Given the description of an element on the screen output the (x, y) to click on. 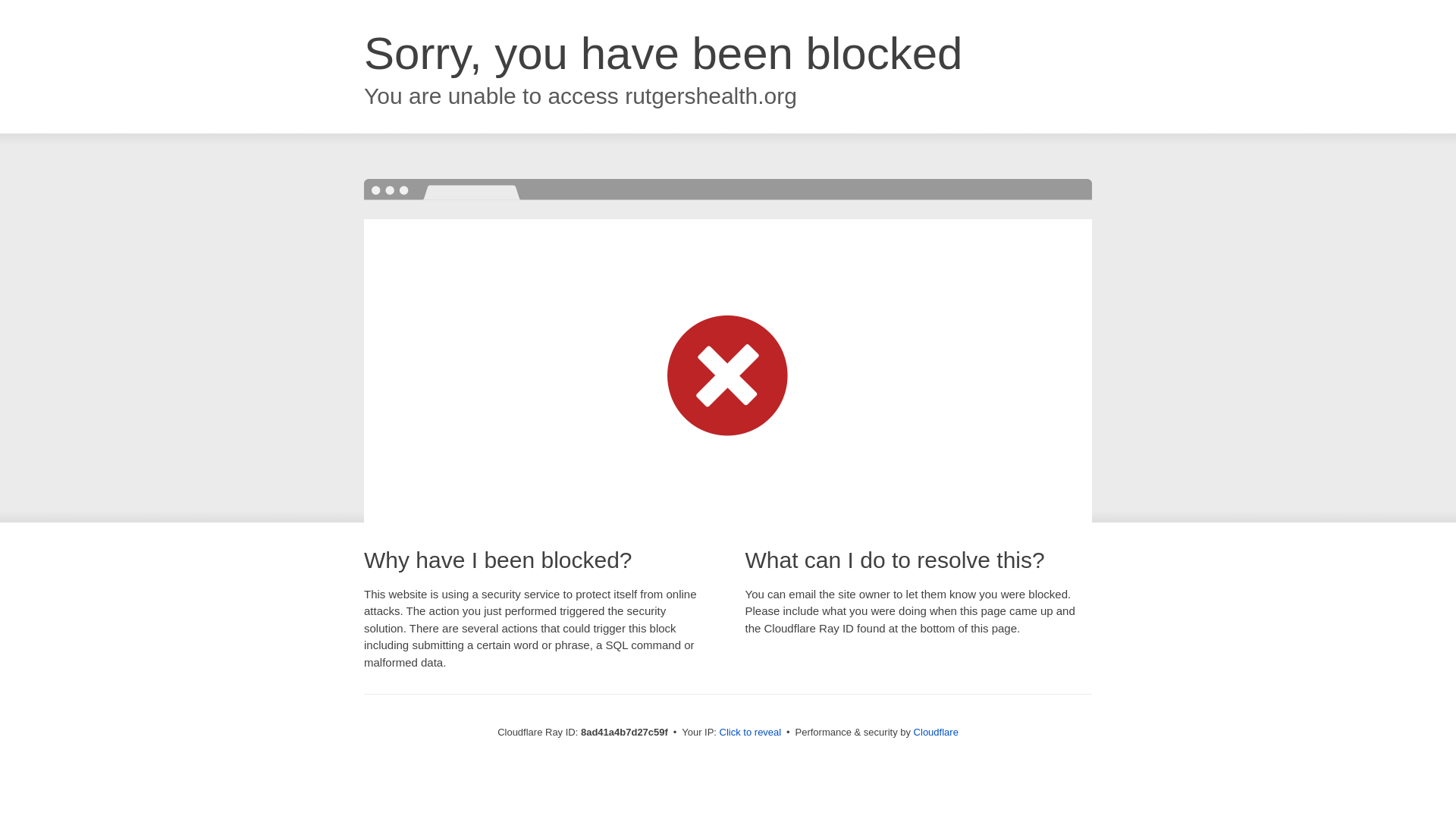
Cloudflare (936, 731)
Click to reveal (750, 732)
